Given the description of an element on the screen output the (x, y) to click on. 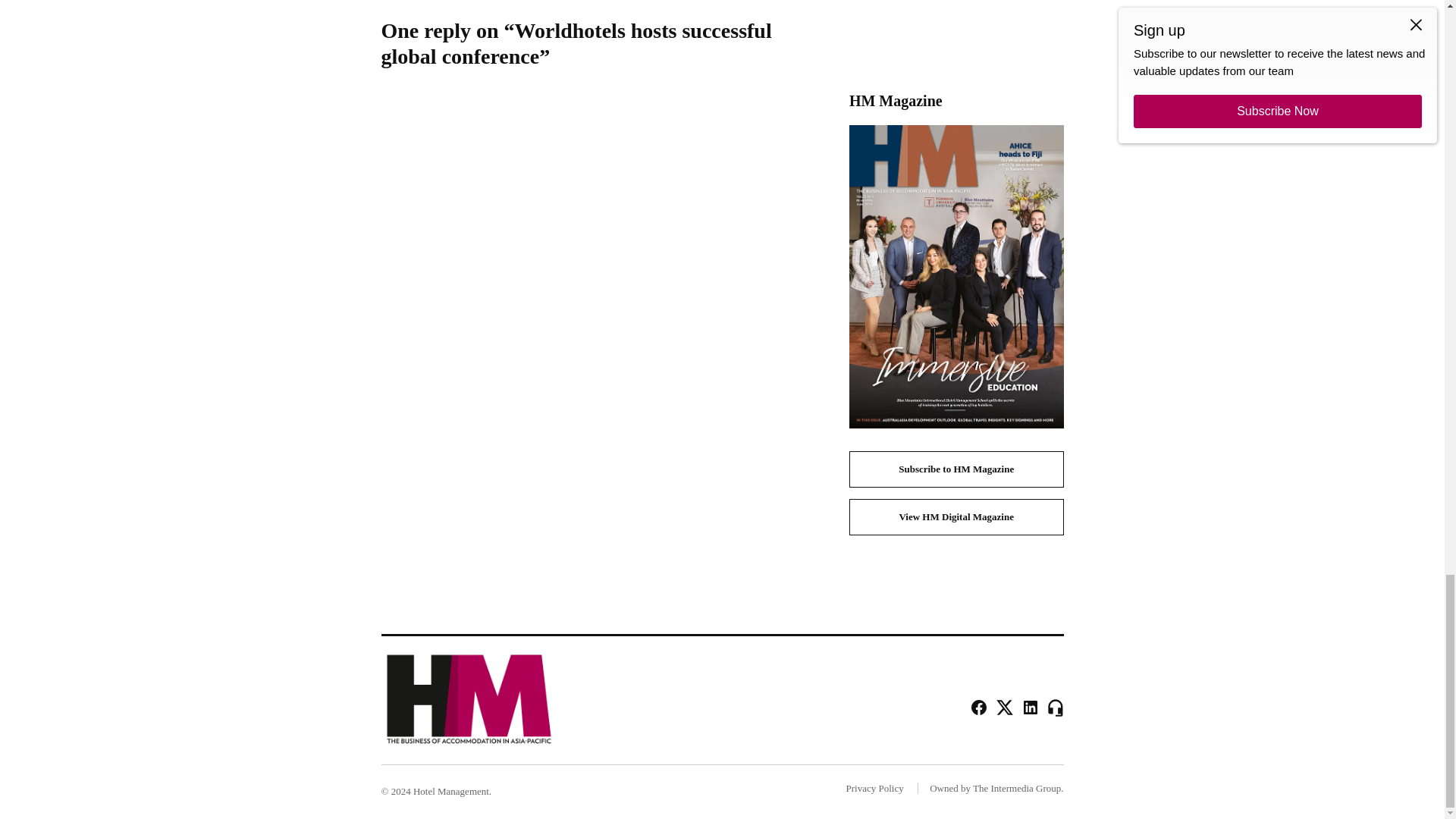
3rd party ad content (956, 34)
